Given the description of an element on the screen output the (x, y) to click on. 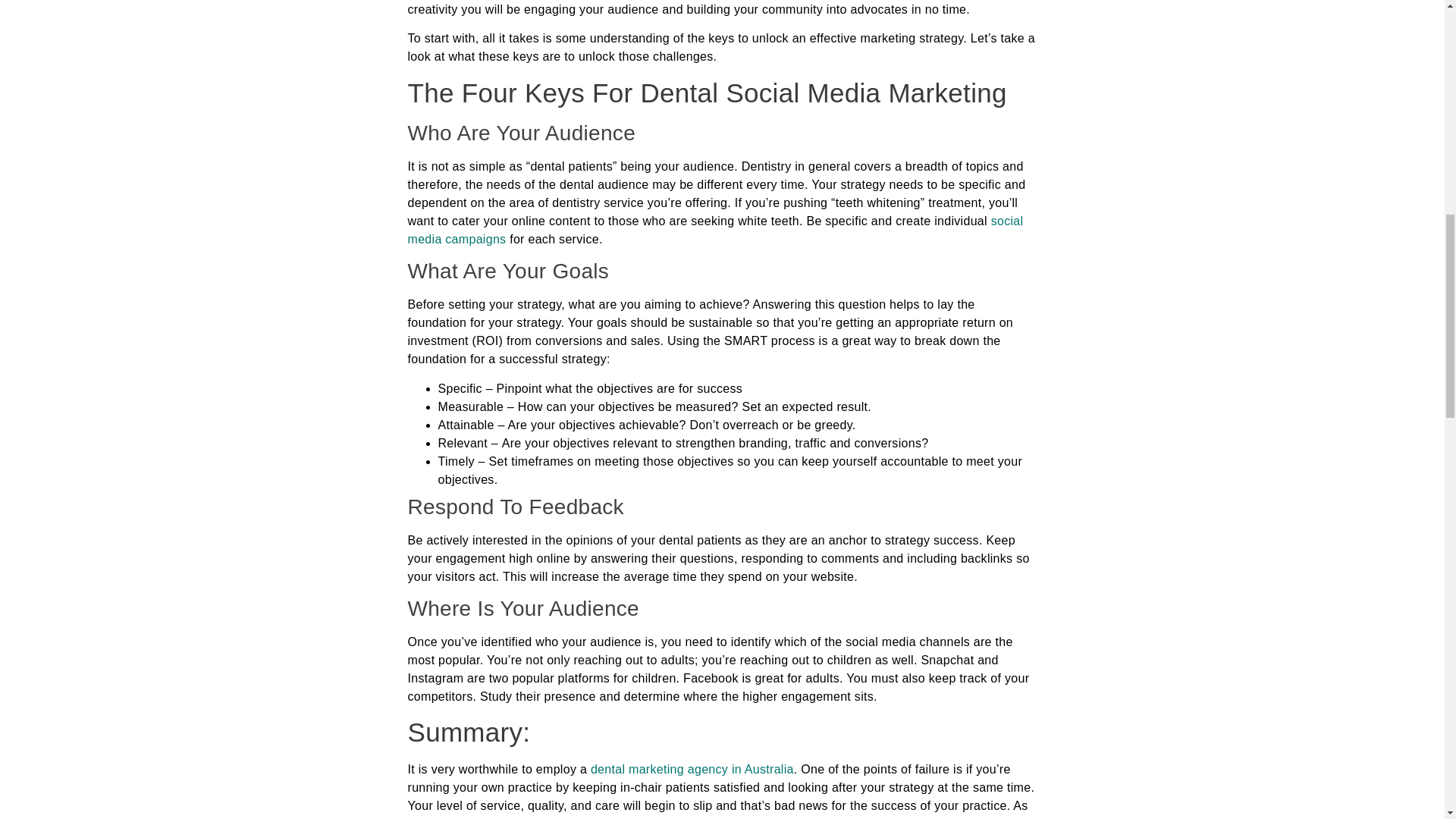
social media campaigns (715, 229)
dental marketing agency in Australia (692, 768)
